Given the description of an element on the screen output the (x, y) to click on. 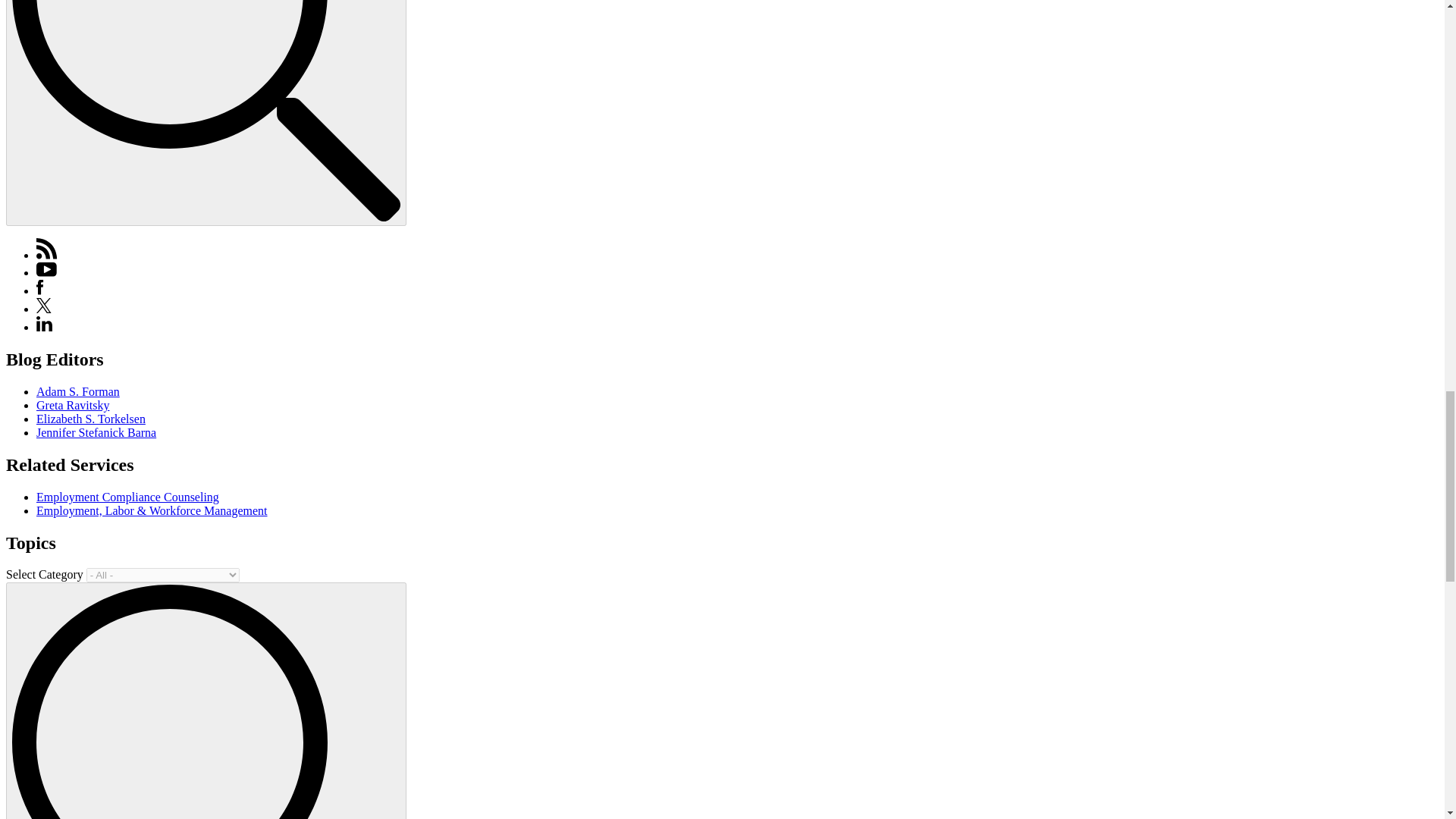
Facebook (39, 290)
Search (205, 701)
Linkedin (44, 327)
Youtube (46, 272)
RSS (47, 248)
Linkedin (44, 323)
Twitter (43, 305)
Search (205, 110)
Youtube (46, 269)
Twitter (43, 308)
Facebook (39, 287)
